Given the description of an element on the screen output the (x, y) to click on. 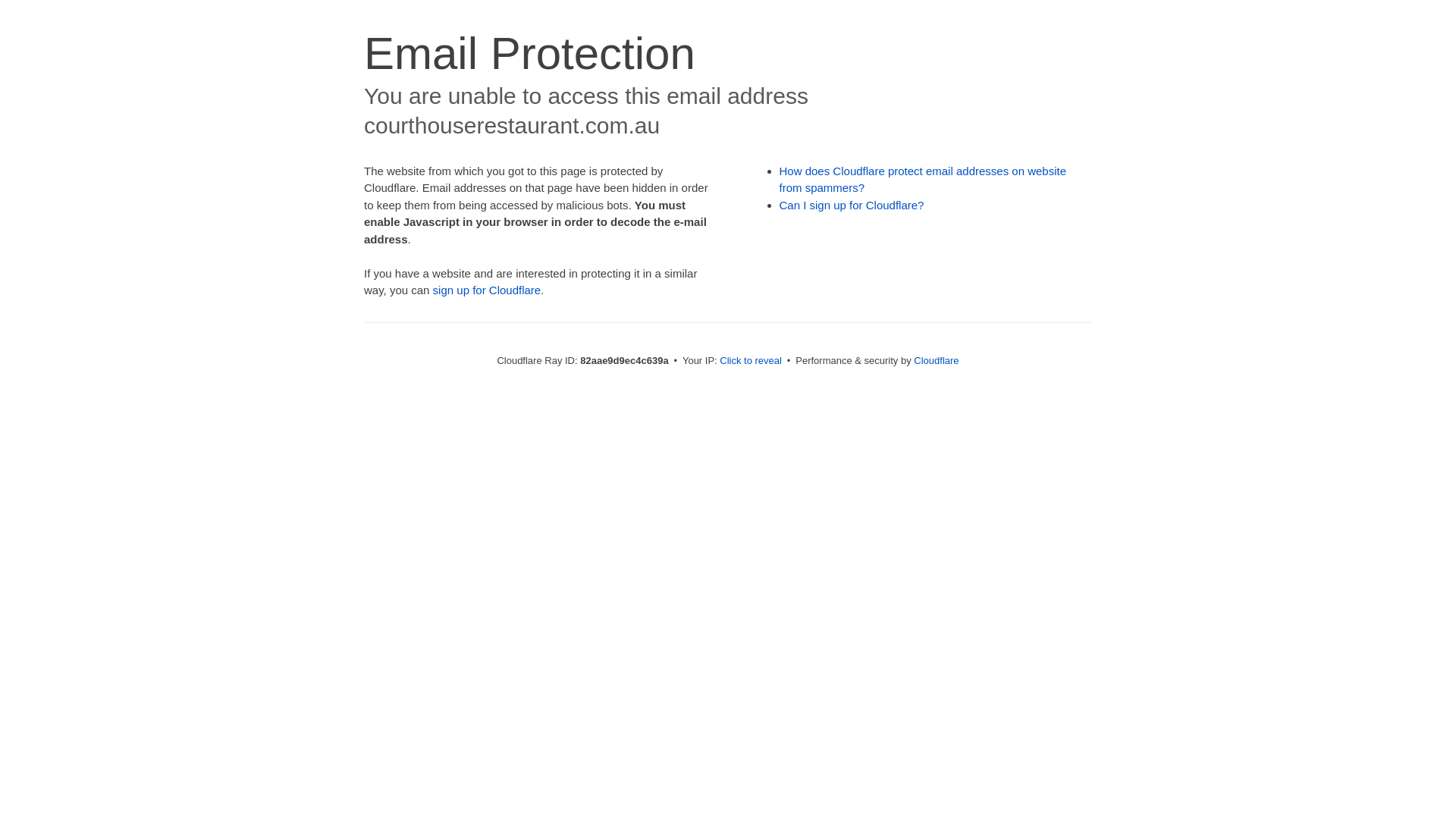
sign up for Cloudflare Element type: text (487, 289)
Can I sign up for Cloudflare? Element type: text (851, 204)
Click to reveal Element type: text (750, 360)
Cloudflare Element type: text (935, 360)
